Given the description of an element on the screen output the (x, y) to click on. 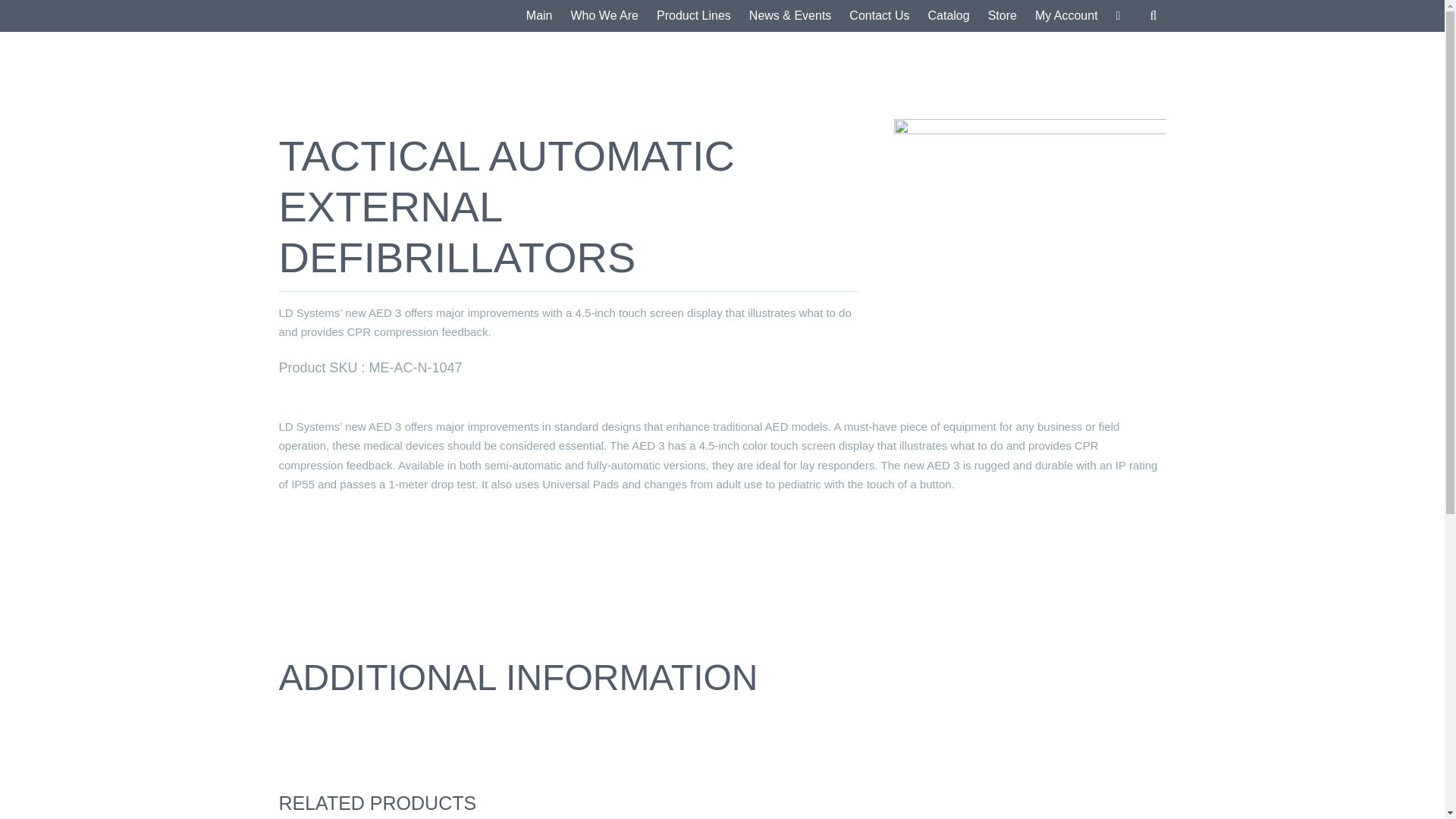
Product Lines (693, 15)
Who We Are (603, 15)
Contact Us (879, 15)
My Account (1066, 15)
Store (1002, 15)
Main (539, 15)
1047 (1029, 246)
Catalog (948, 15)
Log In (1120, 167)
